Given the description of an element on the screen output the (x, y) to click on. 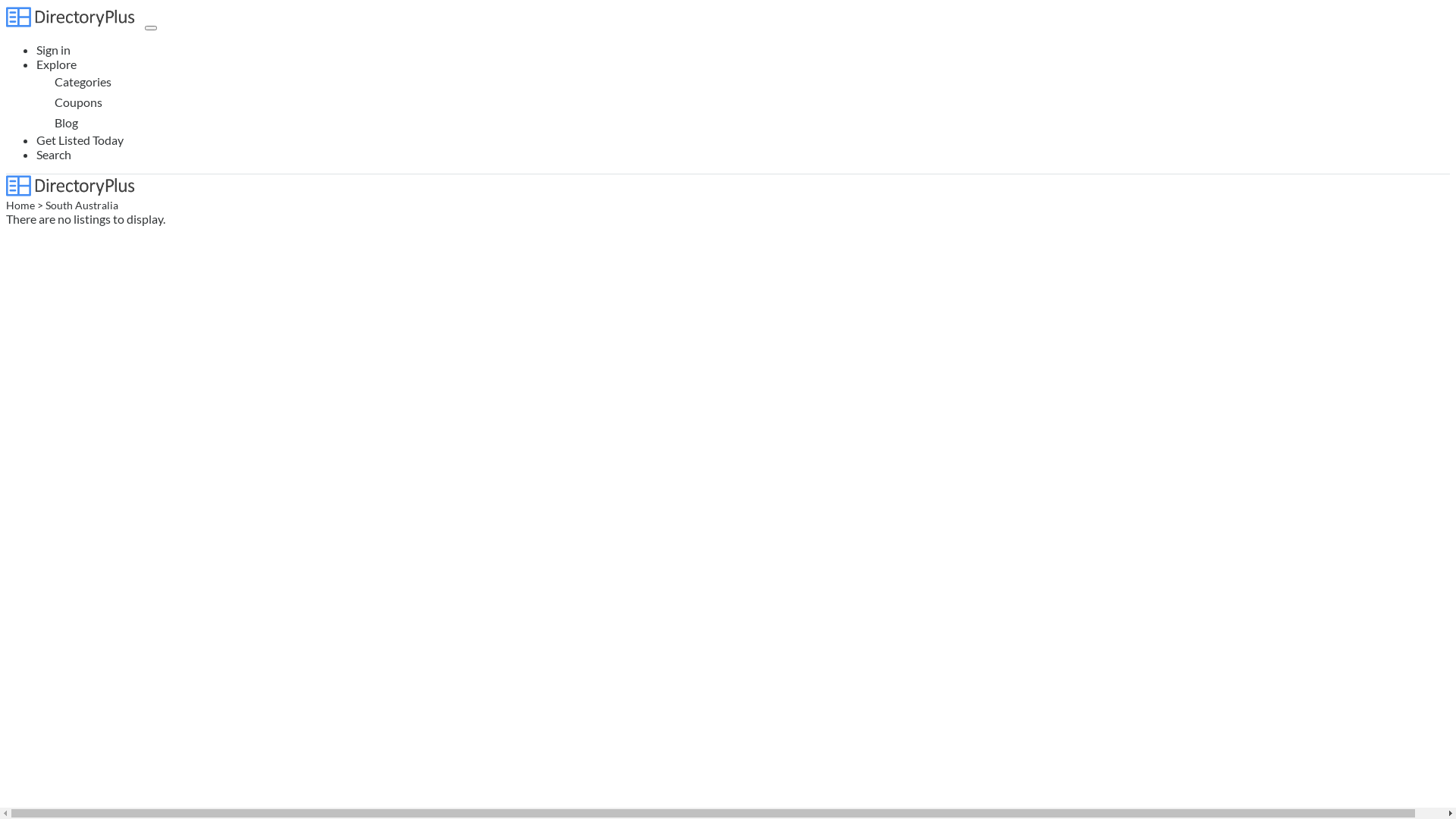
Get Listed Today Element type: text (79, 139)
Sign in Element type: text (53, 49)
Search Element type: text (53, 154)
Explore Element type: text (56, 63)
Home Element type: text (20, 205)
